Given the description of an element on the screen output the (x, y) to click on. 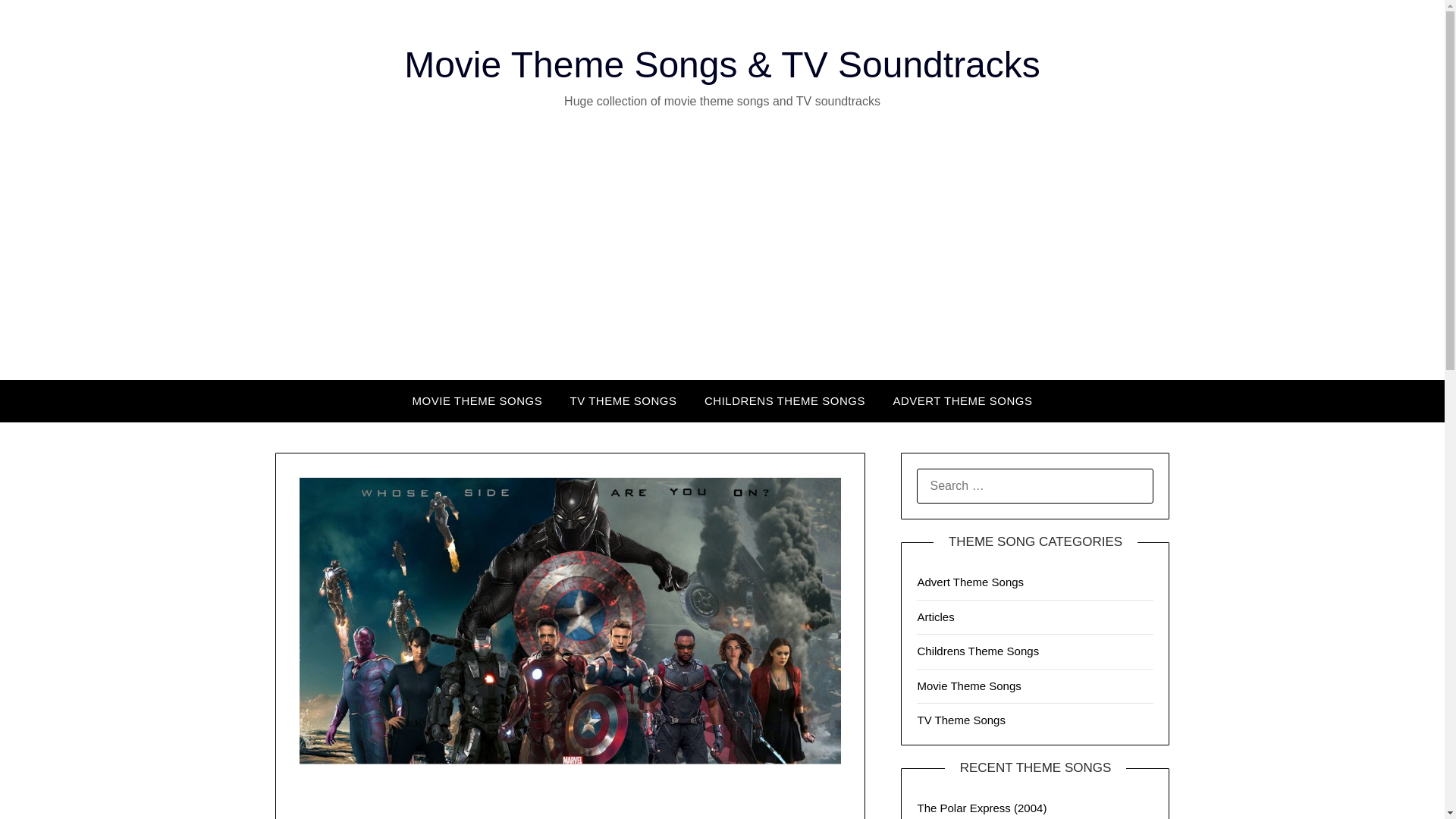
TV Theme Songs (960, 719)
MOVIE THEME SONGS (477, 400)
Advert Theme Songs (970, 581)
CHILDRENS THEME SONGS (785, 400)
TV THEME SONGS (622, 400)
Search (38, 22)
ADVERT THEME SONGS (961, 400)
Movie Theme Songs (968, 685)
Articles (935, 616)
Childrens Theme Songs (978, 650)
